Given the description of an element on the screen output the (x, y) to click on. 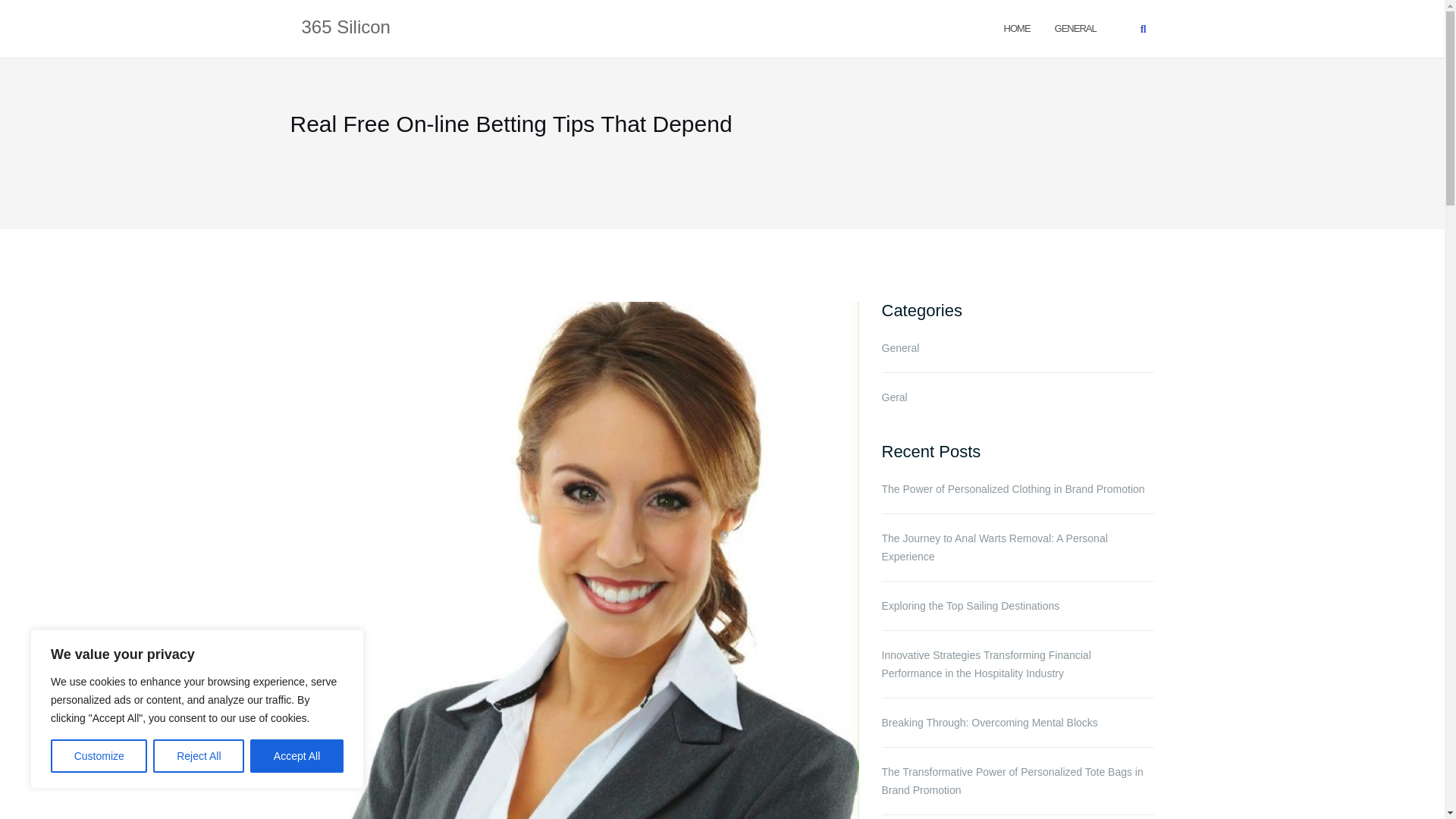
General (1075, 28)
GENERAL (1075, 28)
Accept All (296, 756)
Customize (98, 756)
Reject All (198, 756)
365 Silicon (345, 28)
